Given the description of an element on the screen output the (x, y) to click on. 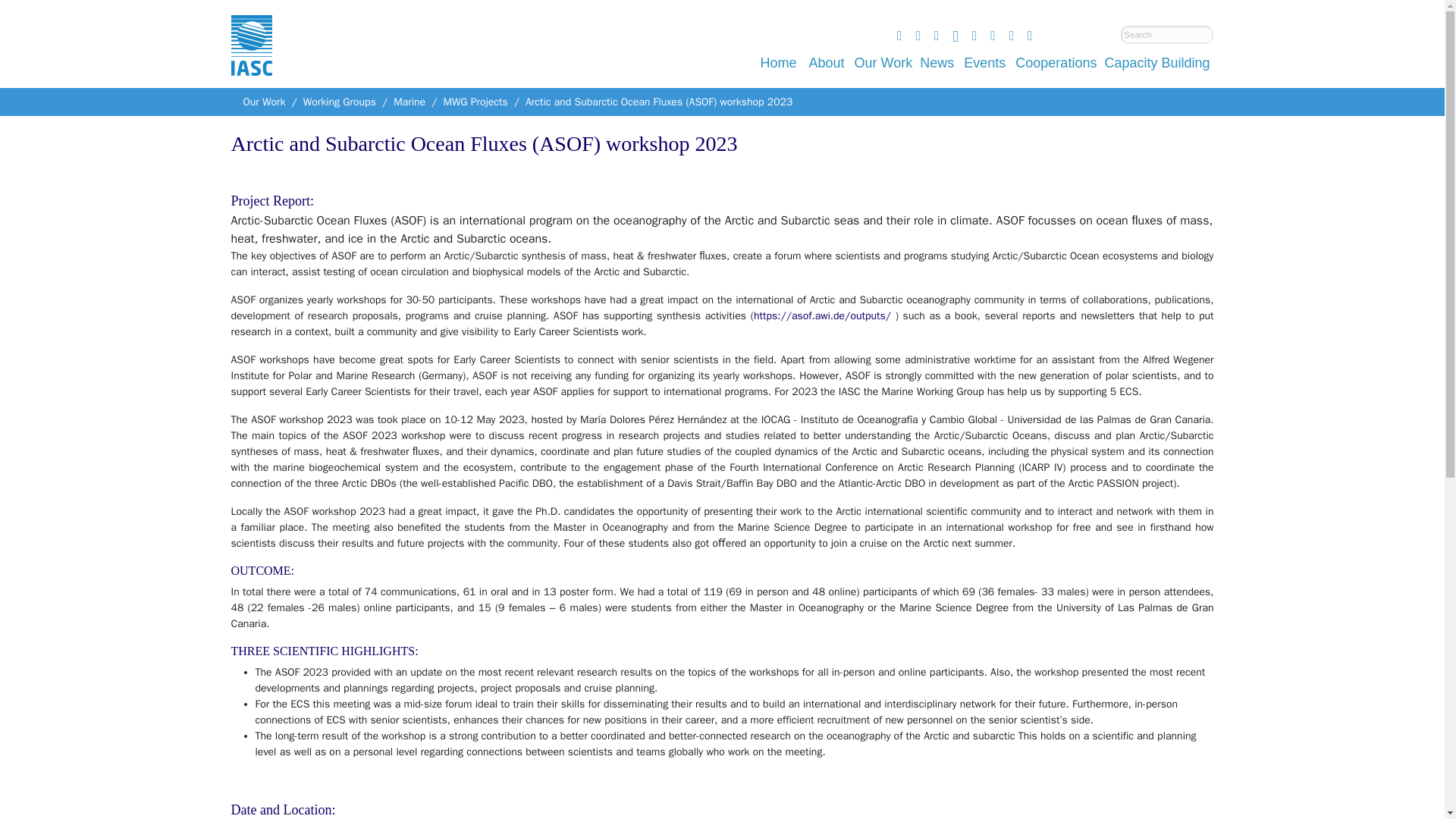
About (826, 62)
International Arctic Science Committee (250, 61)
Home (778, 62)
